Given the description of an element on the screen output the (x, y) to click on. 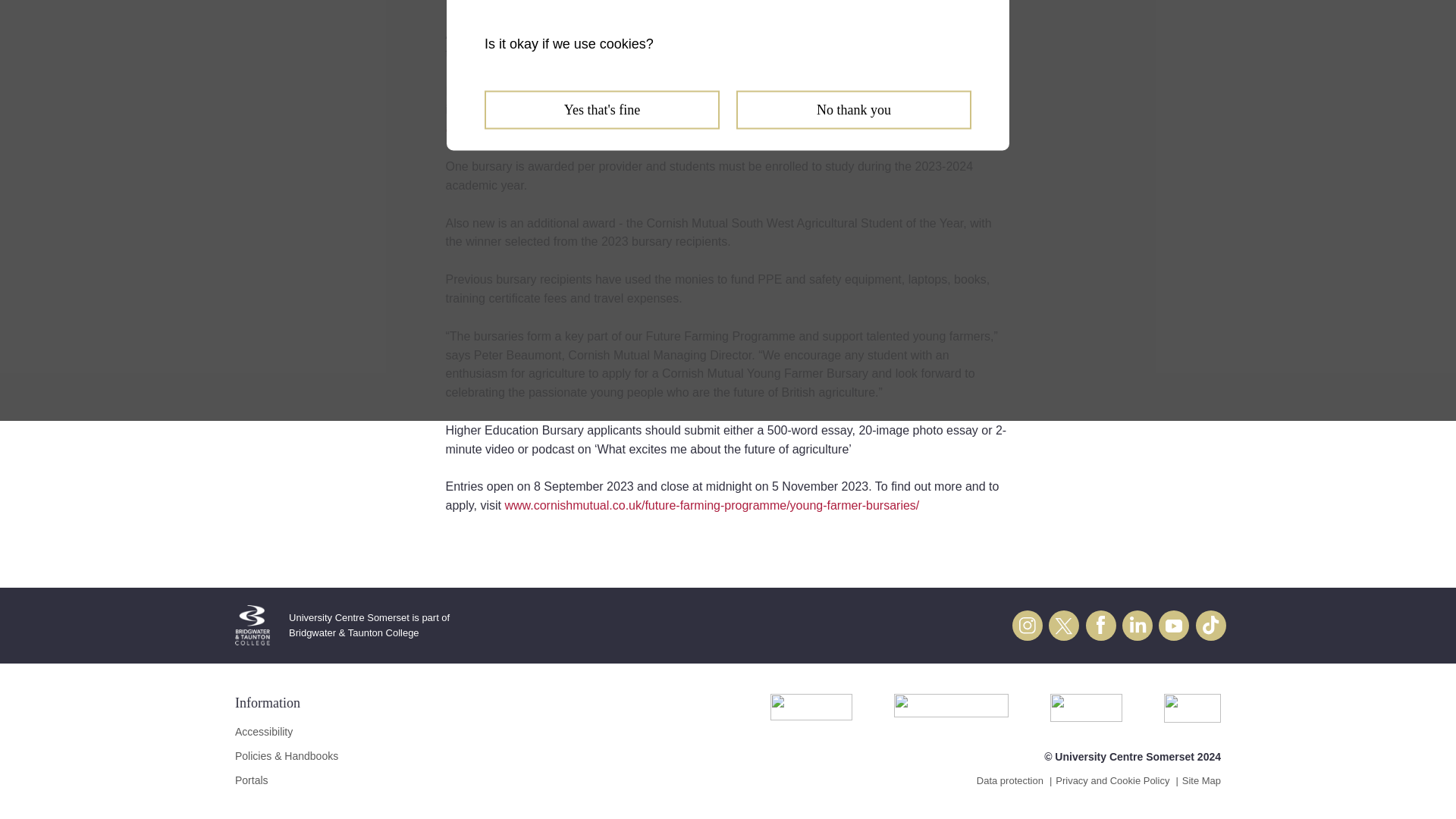
Yes that's fine (601, 109)
No thank you (853, 109)
